Given the description of an element on the screen output the (x, y) to click on. 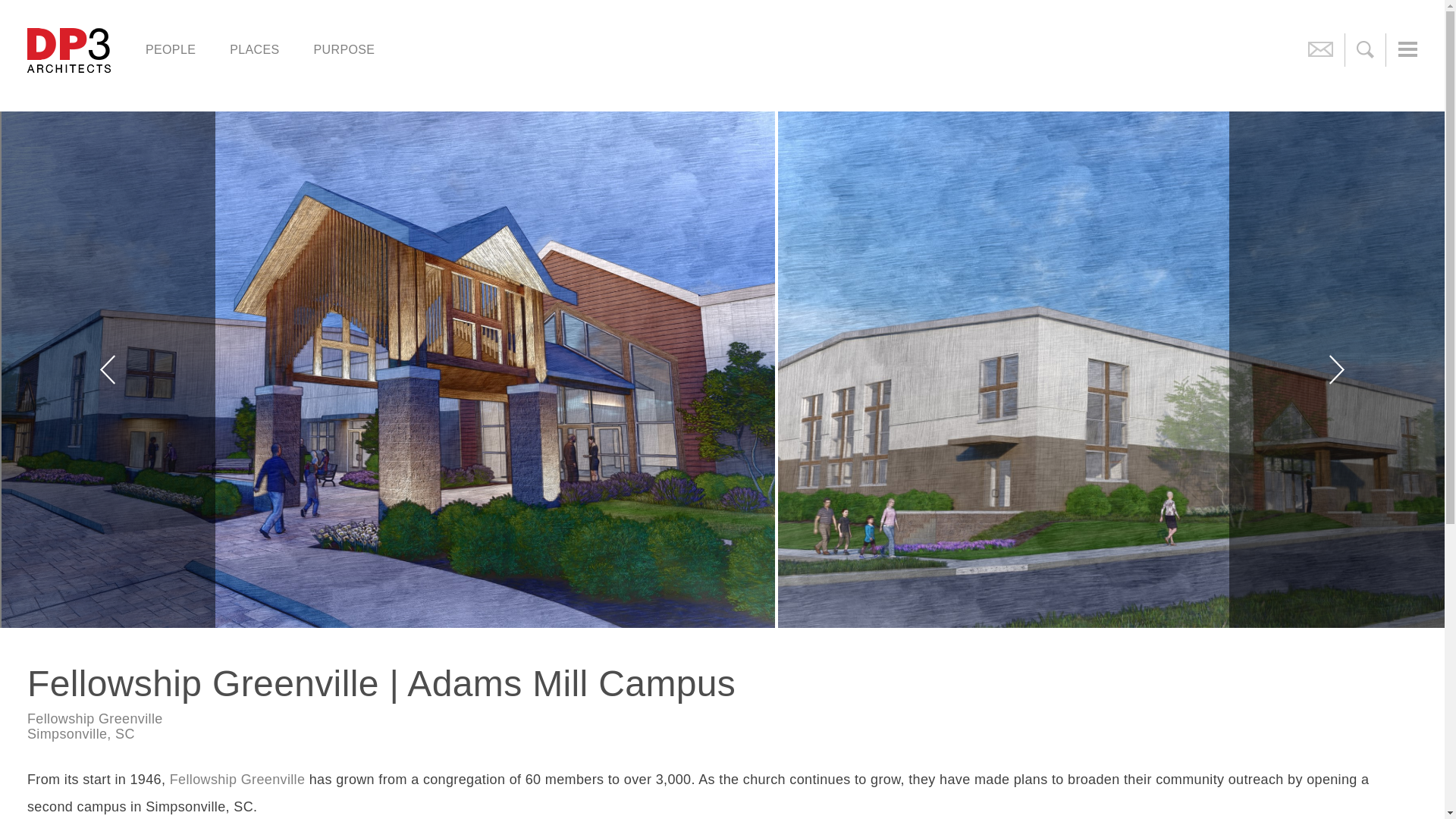
PEOPLE (171, 63)
Menu (1407, 49)
Email (1320, 49)
PLACES (254, 63)
Search (1365, 49)
PURPOSE (344, 63)
Search (48, 18)
